Given the description of an element on the screen output the (x, y) to click on. 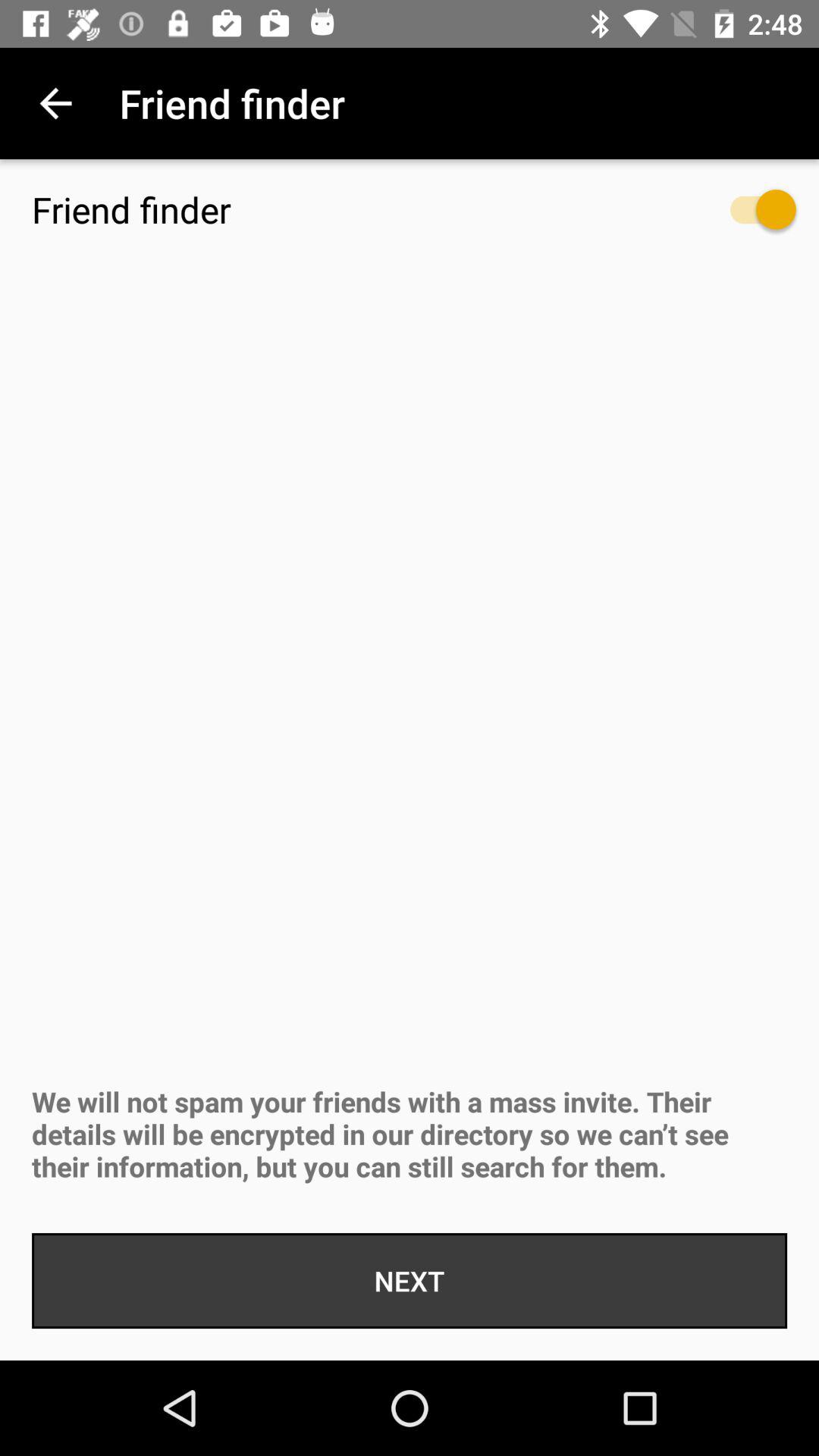
turn on item to the right of the friend finder item (747, 217)
